Given the description of an element on the screen output the (x, y) to click on. 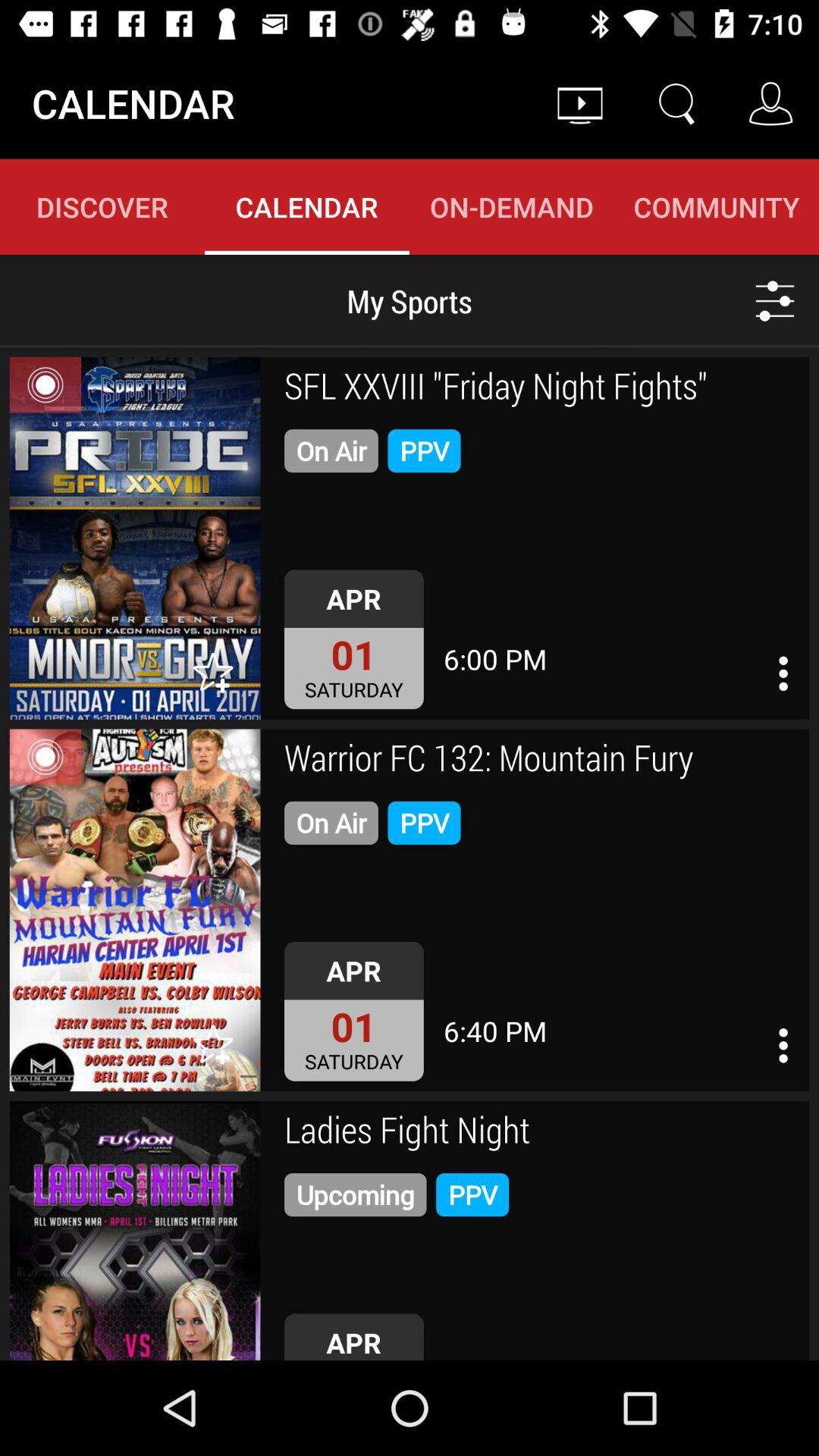
open the app next to the calendar item (579, 103)
